Given the description of an element on the screen output the (x, y) to click on. 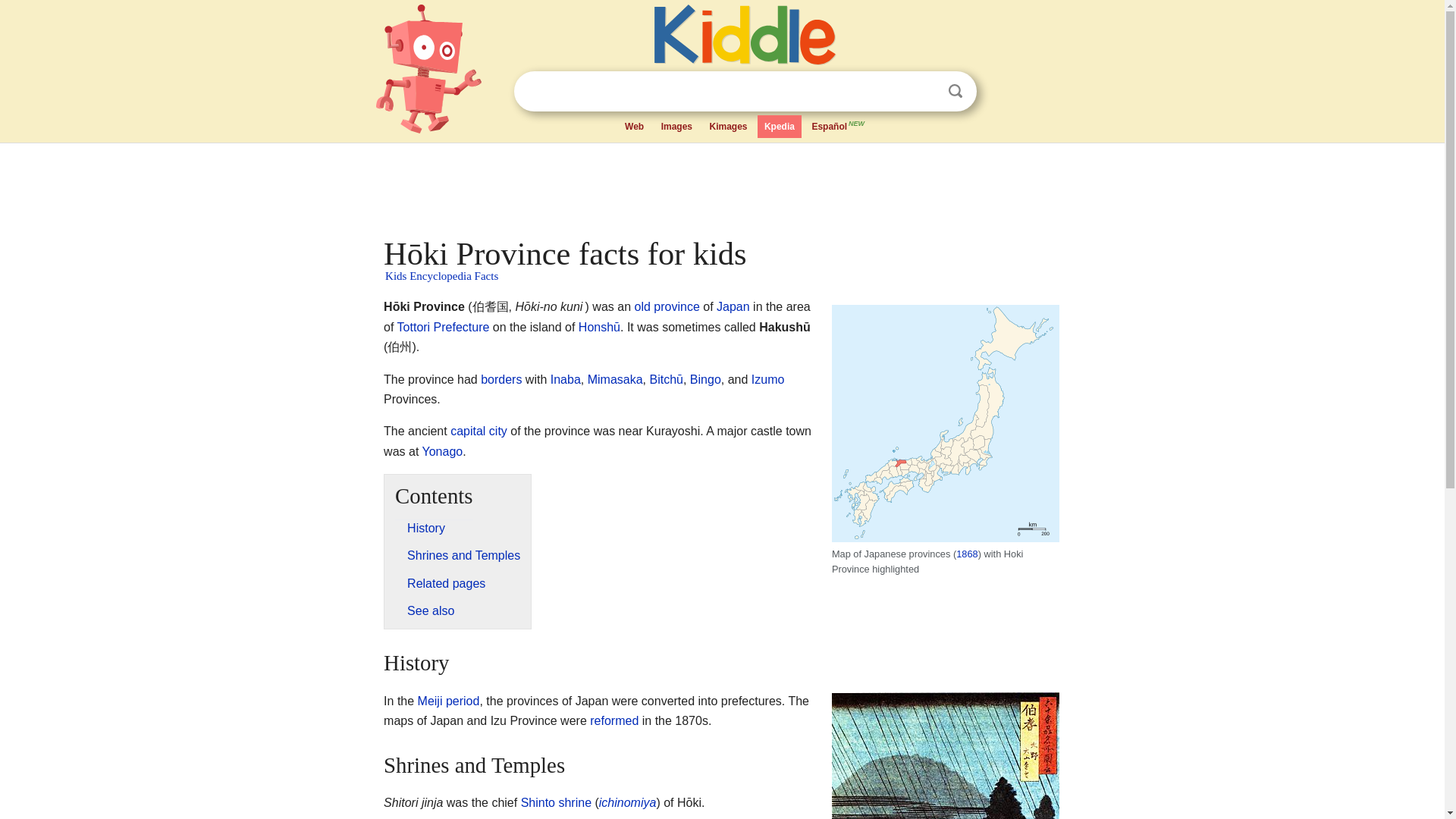
Meiji period (448, 700)
Border (500, 379)
Kpedia (779, 126)
Izumo (767, 379)
See also (430, 610)
Shrines and Temples (463, 554)
Mimasaka (615, 379)
reformed (614, 720)
Search (955, 91)
old province (667, 306)
Izumo Province (767, 379)
Yonago, Tottori (442, 451)
Web (633, 126)
Tottori Prefecture (443, 327)
Advertisement (721, 185)
